Given the description of an element on the screen output the (x, y) to click on. 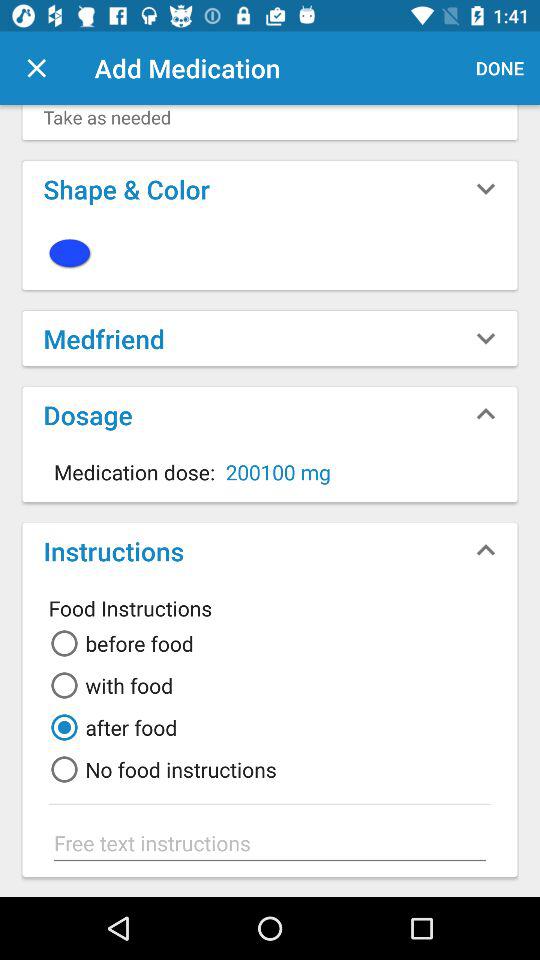
open the icon next to add medication (36, 68)
